Given the description of an element on the screen output the (x, y) to click on. 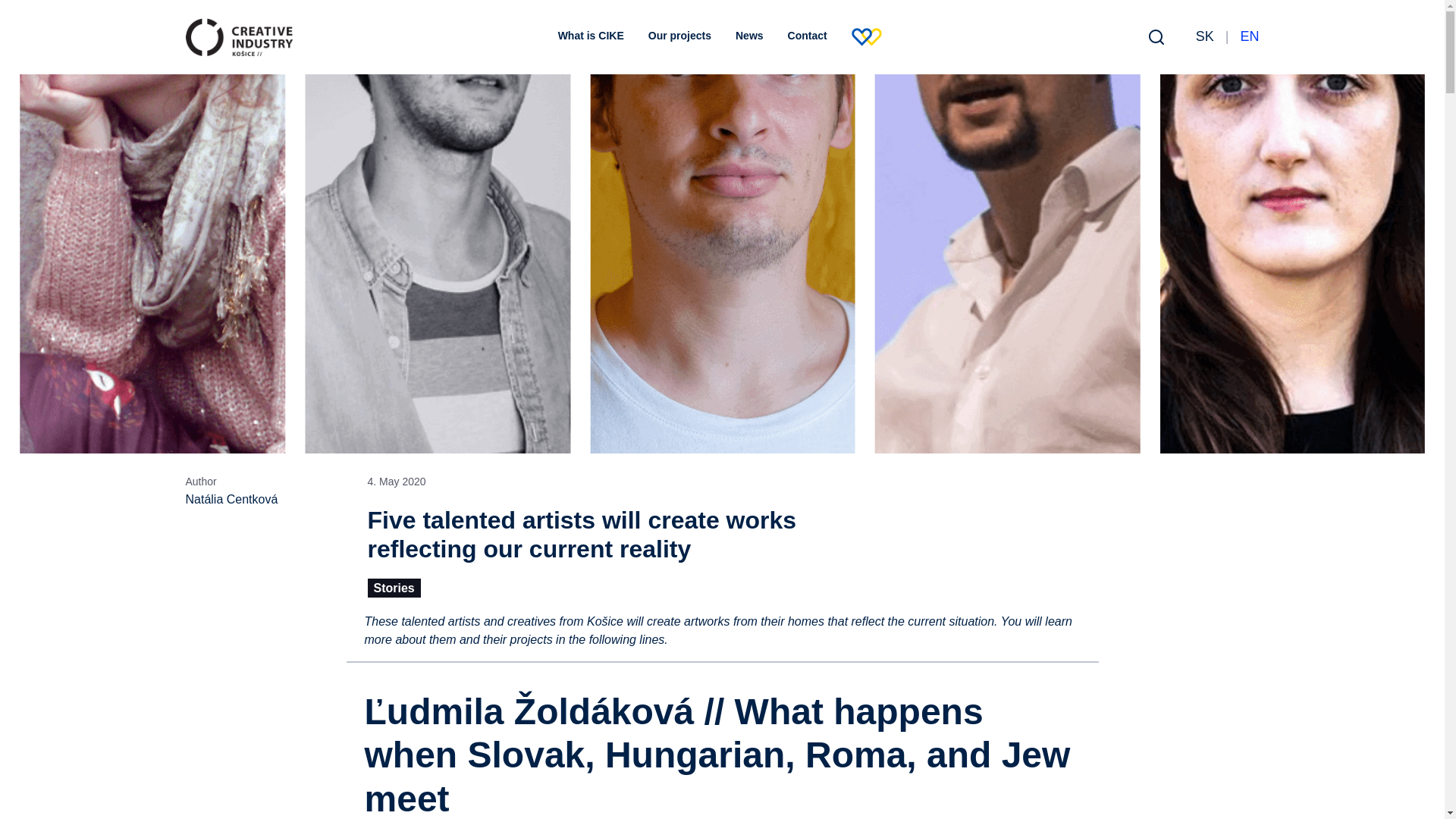
Search (1156, 36)
What is CIKE (590, 36)
EN (1249, 36)
SK (1206, 36)
